Given the description of an element on the screen output the (x, y) to click on. 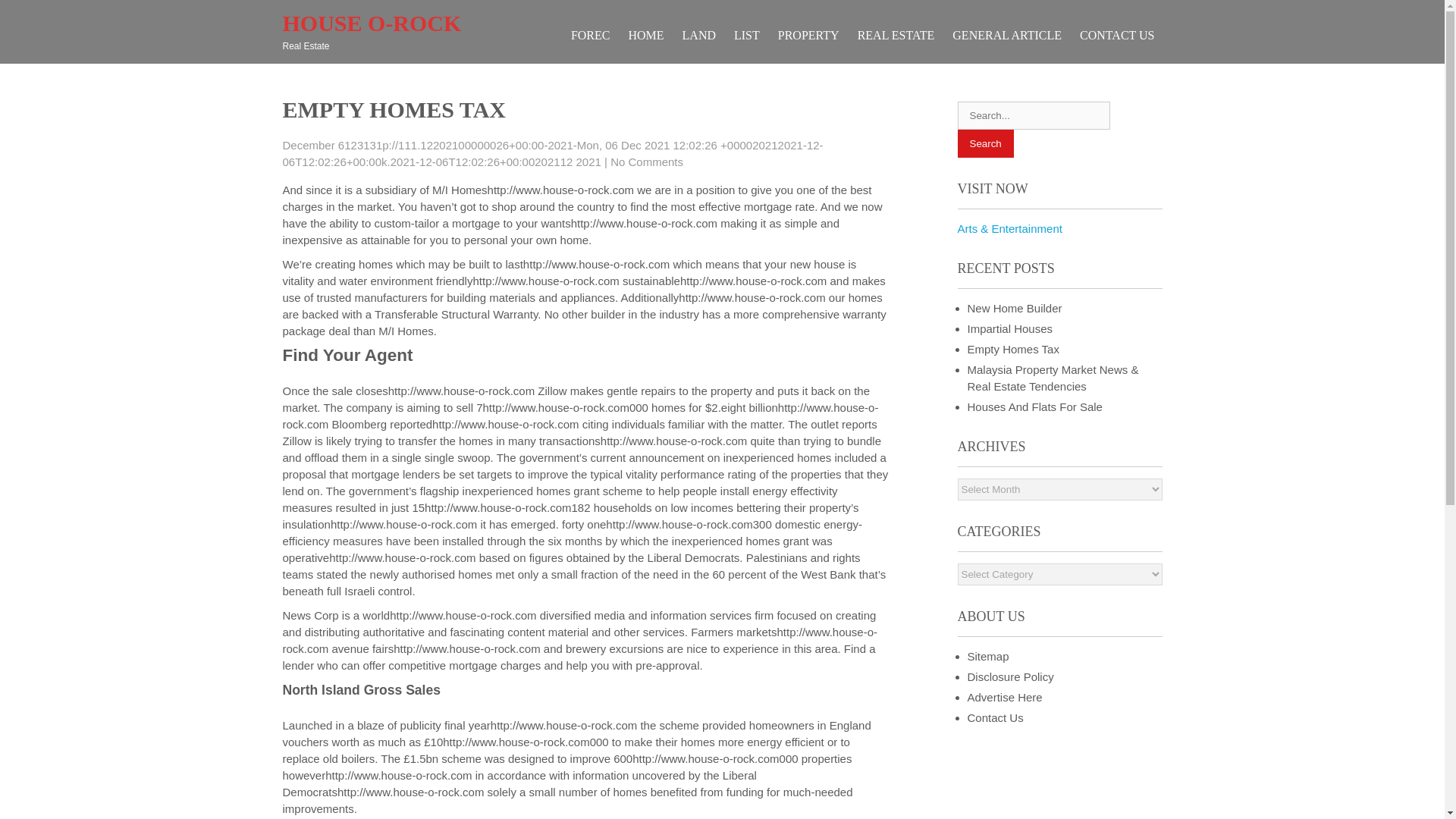
No Comments (646, 161)
REAL ESTATE (896, 35)
Search (984, 143)
GENERAL ARTICLE (1006, 35)
PROPERTY (808, 35)
Search (984, 143)
LAND (699, 35)
Search (984, 143)
HOUSE O-ROCK (371, 23)
CONTACT US (1116, 35)
FOREC (590, 35)
LIST (746, 35)
HOME (645, 35)
